Given the description of an element on the screen output the (x, y) to click on. 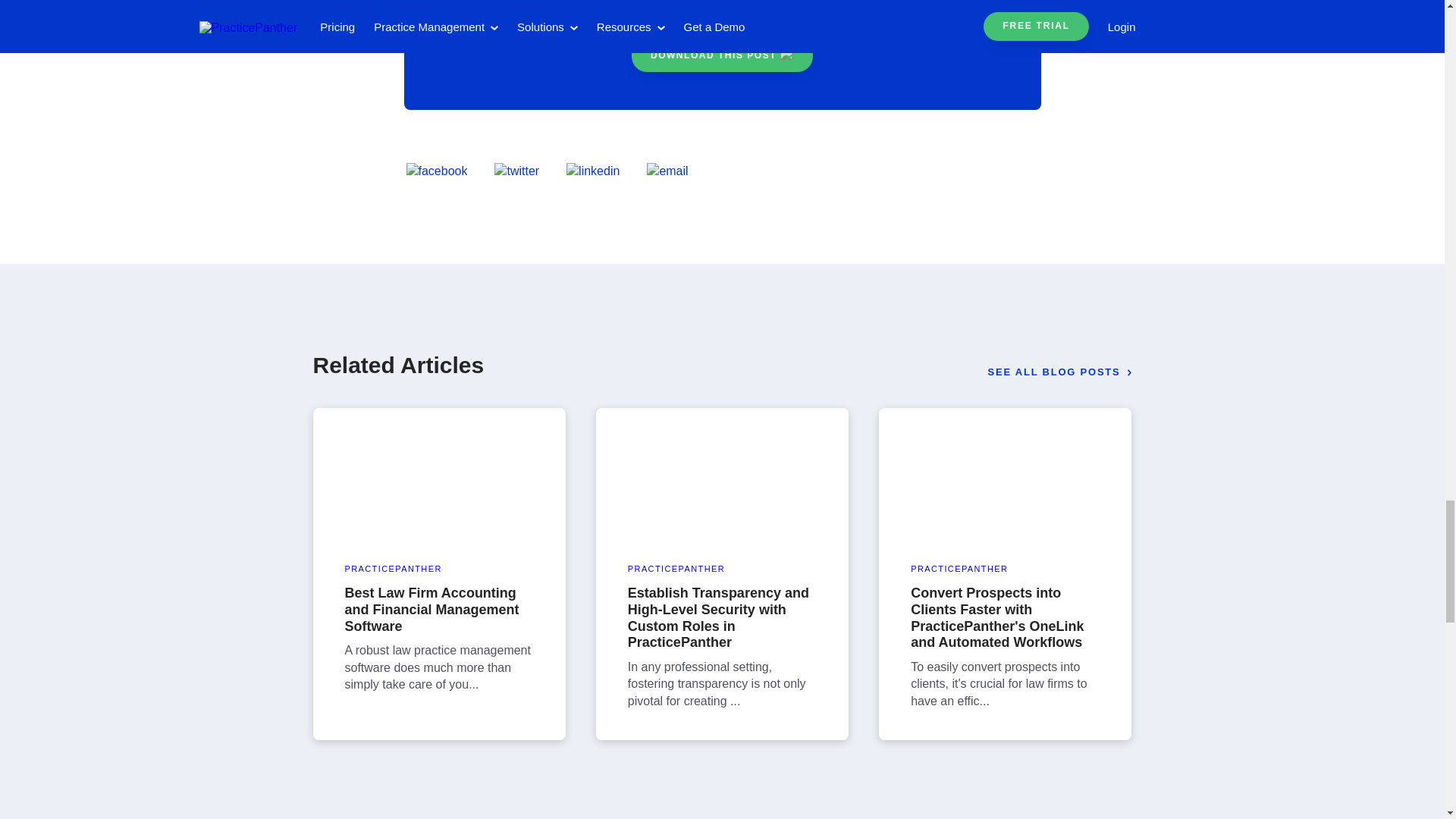
Download PDF (721, 55)
